Given the description of an element on the screen output the (x, y) to click on. 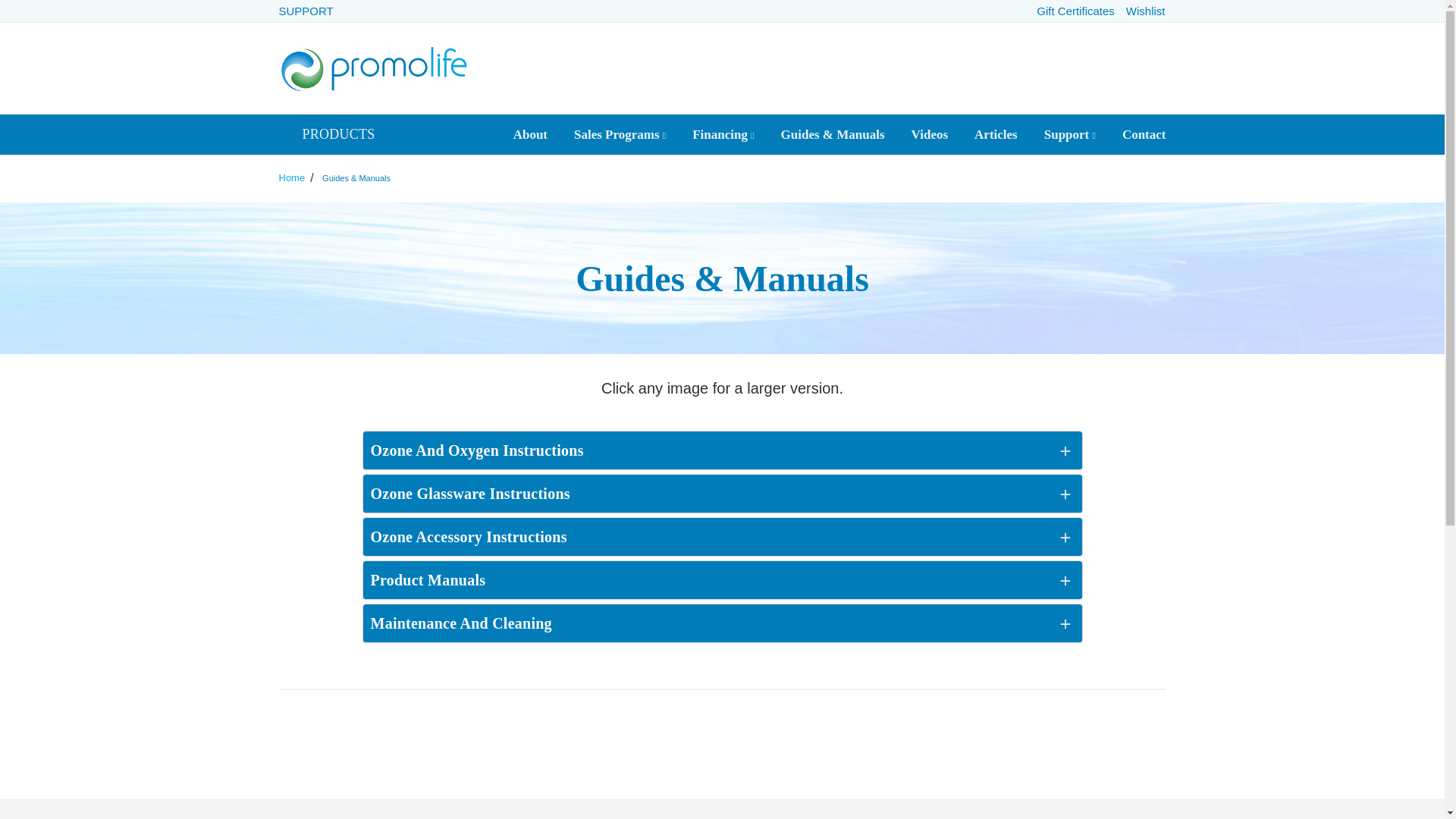
SUPPORT (306, 10)
Gift Certificates (1075, 10)
Wishlist (1145, 10)
Promolife (373, 68)
